Given the description of an element on the screen output the (x, y) to click on. 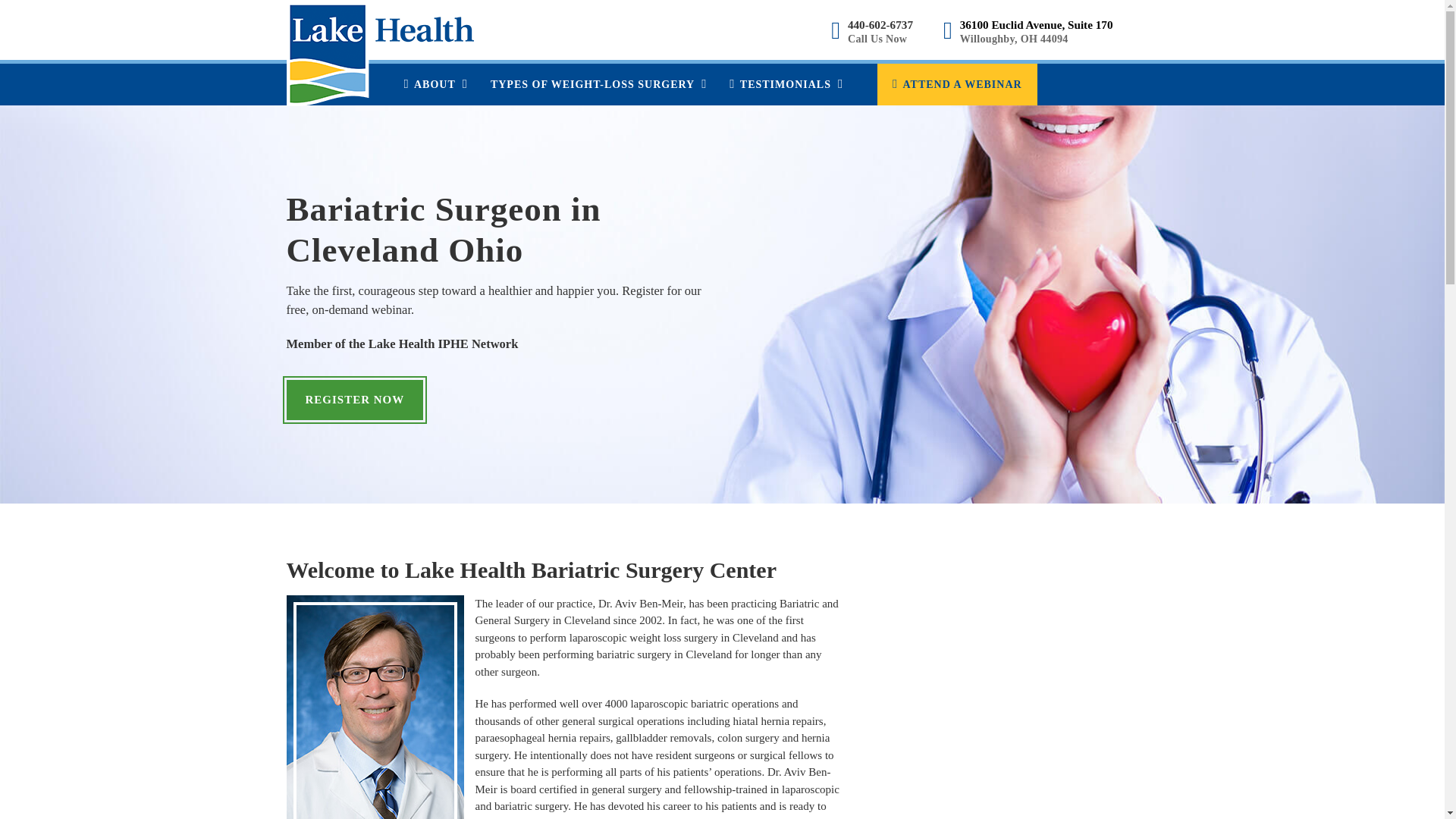
TESTIMONIALS (786, 84)
REGISTER NOW (354, 400)
TYPES OF WEIGHT-LOSS SURGERY (598, 84)
440-602-6737 (879, 24)
ATTEND A WEBINAR (956, 84)
ABOUT (435, 84)
